Given the description of an element on the screen output the (x, y) to click on. 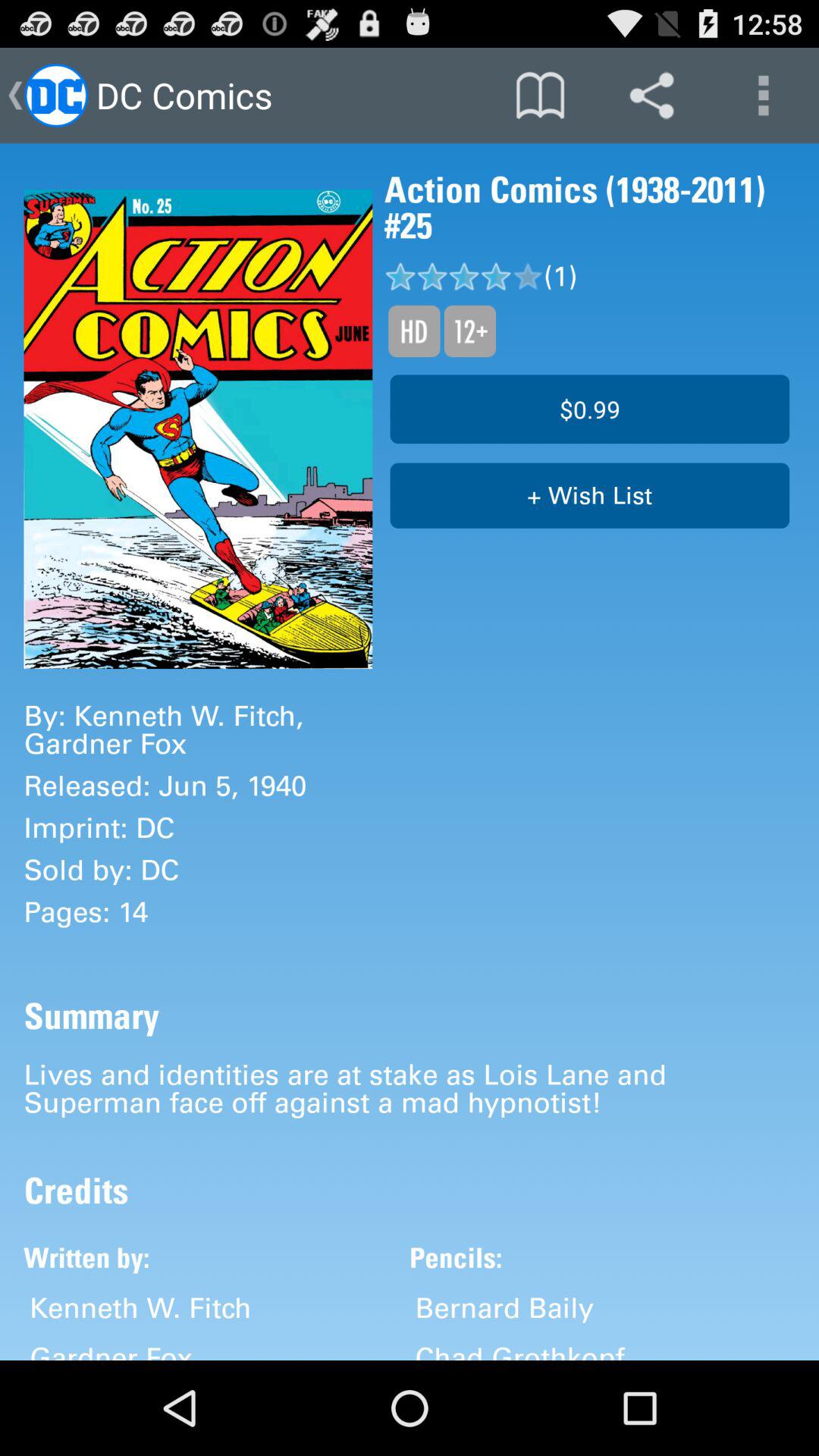
click item above action comics 1938 icon (651, 95)
